Given the description of an element on the screen output the (x, y) to click on. 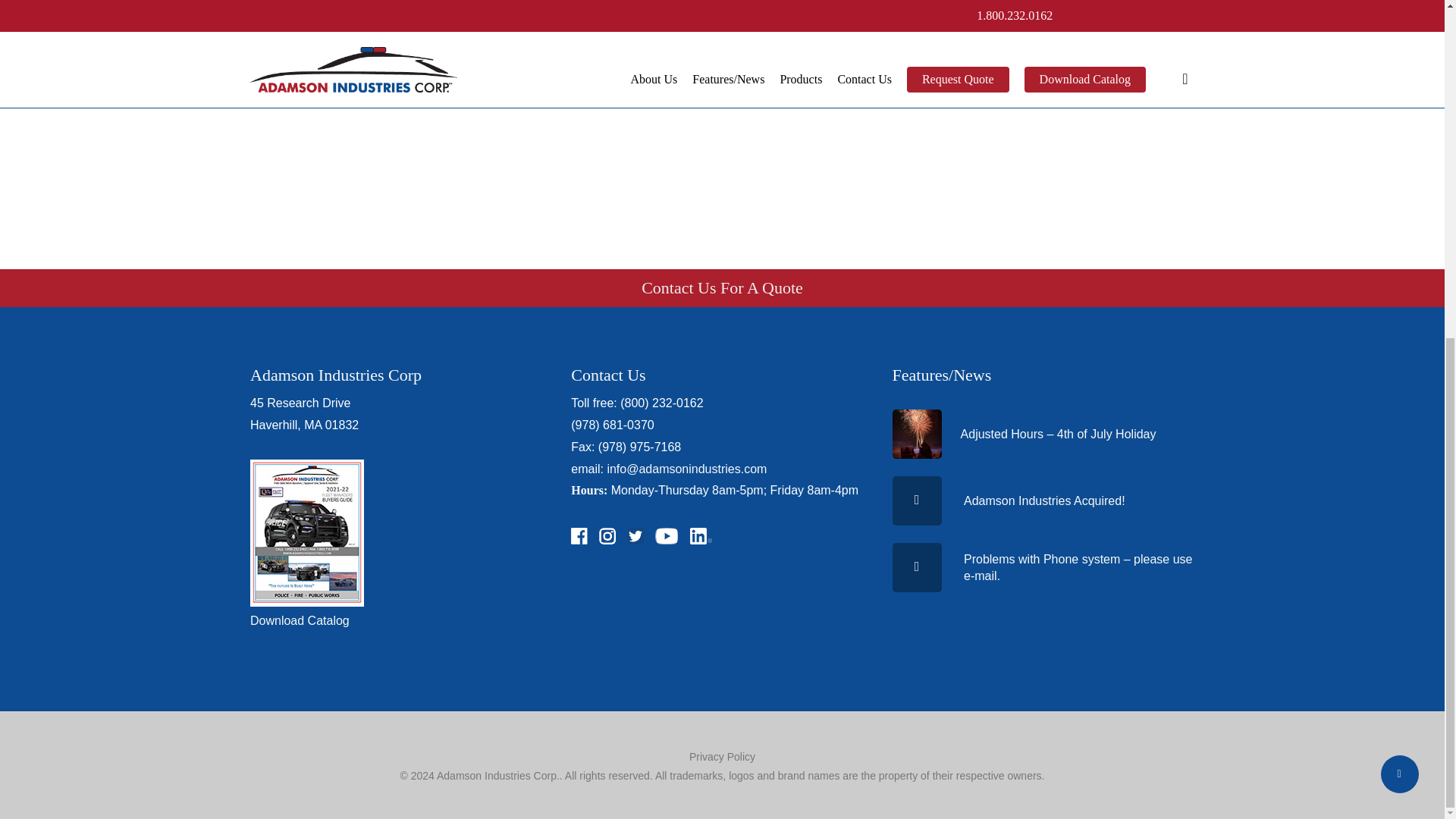
Command Tactical Vehicle   2021 Transit Van (573, 86)
